Given the description of an element on the screen output the (x, y) to click on. 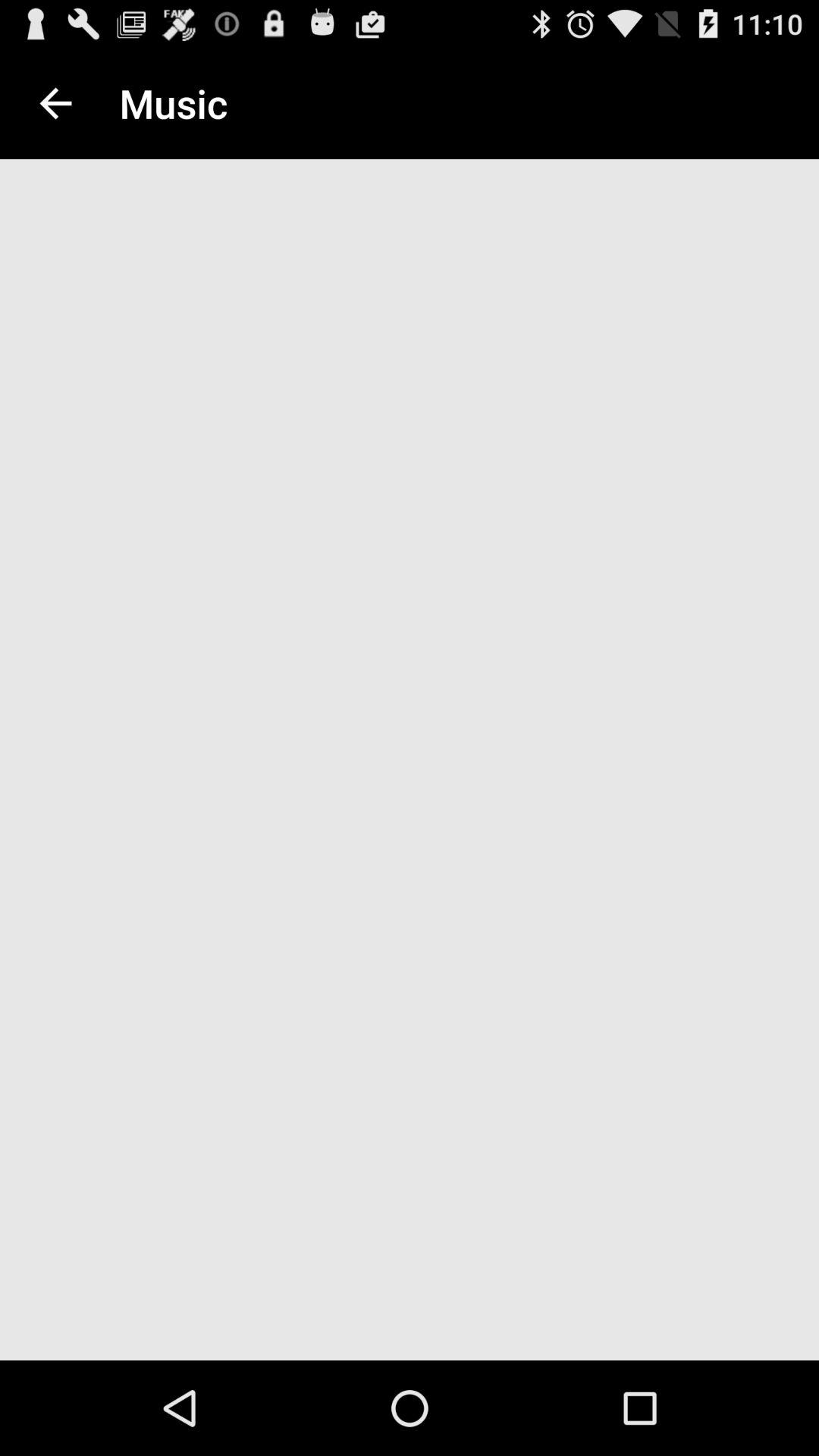
turn on item at the center (409, 764)
